Given the description of an element on the screen output the (x, y) to click on. 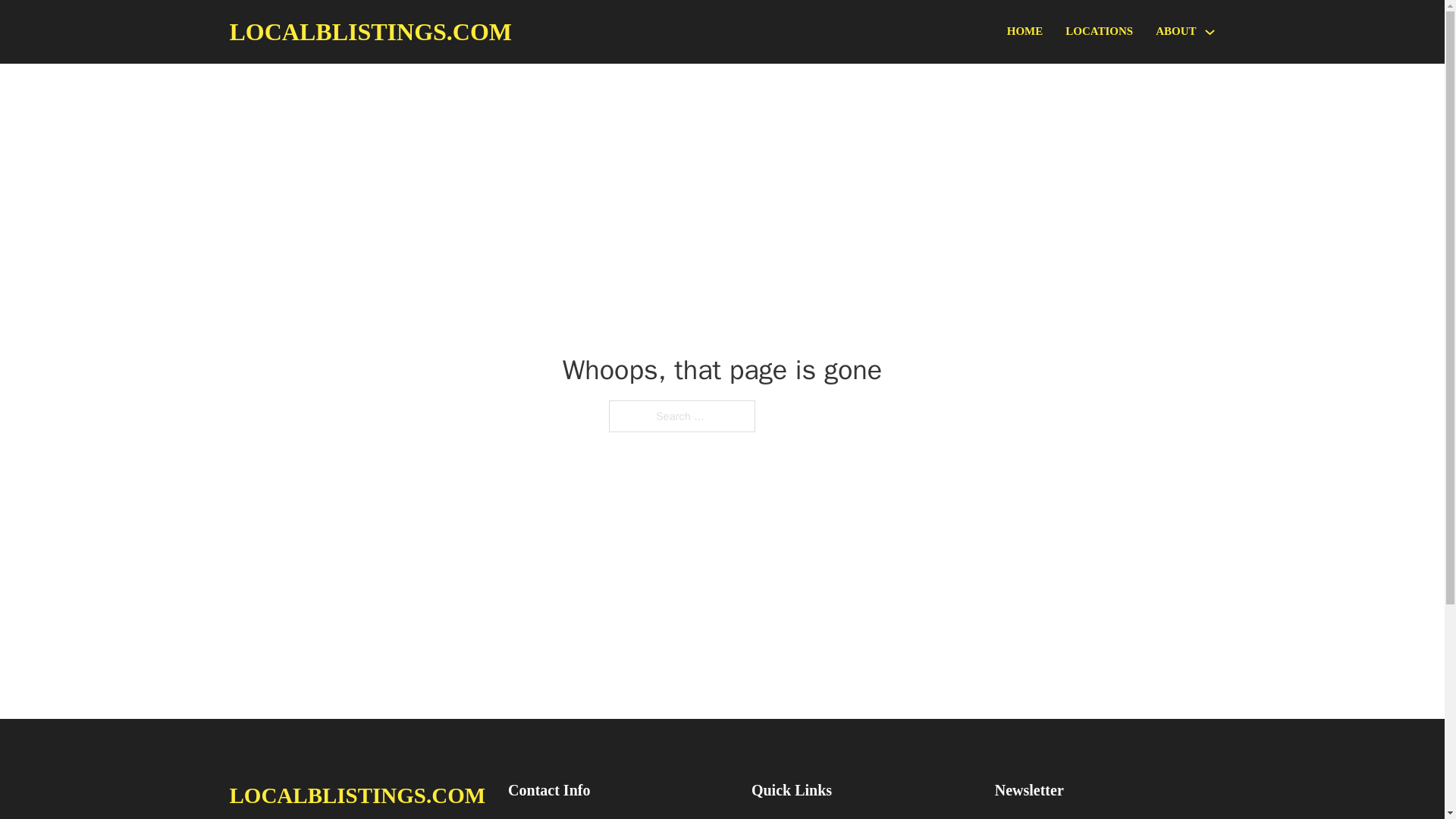
LOCATIONS (1098, 31)
LOCALBLISTINGS.COM (370, 31)
LOCALBLISTINGS.COM (356, 795)
HOME (1025, 31)
